Given the description of an element on the screen output the (x, y) to click on. 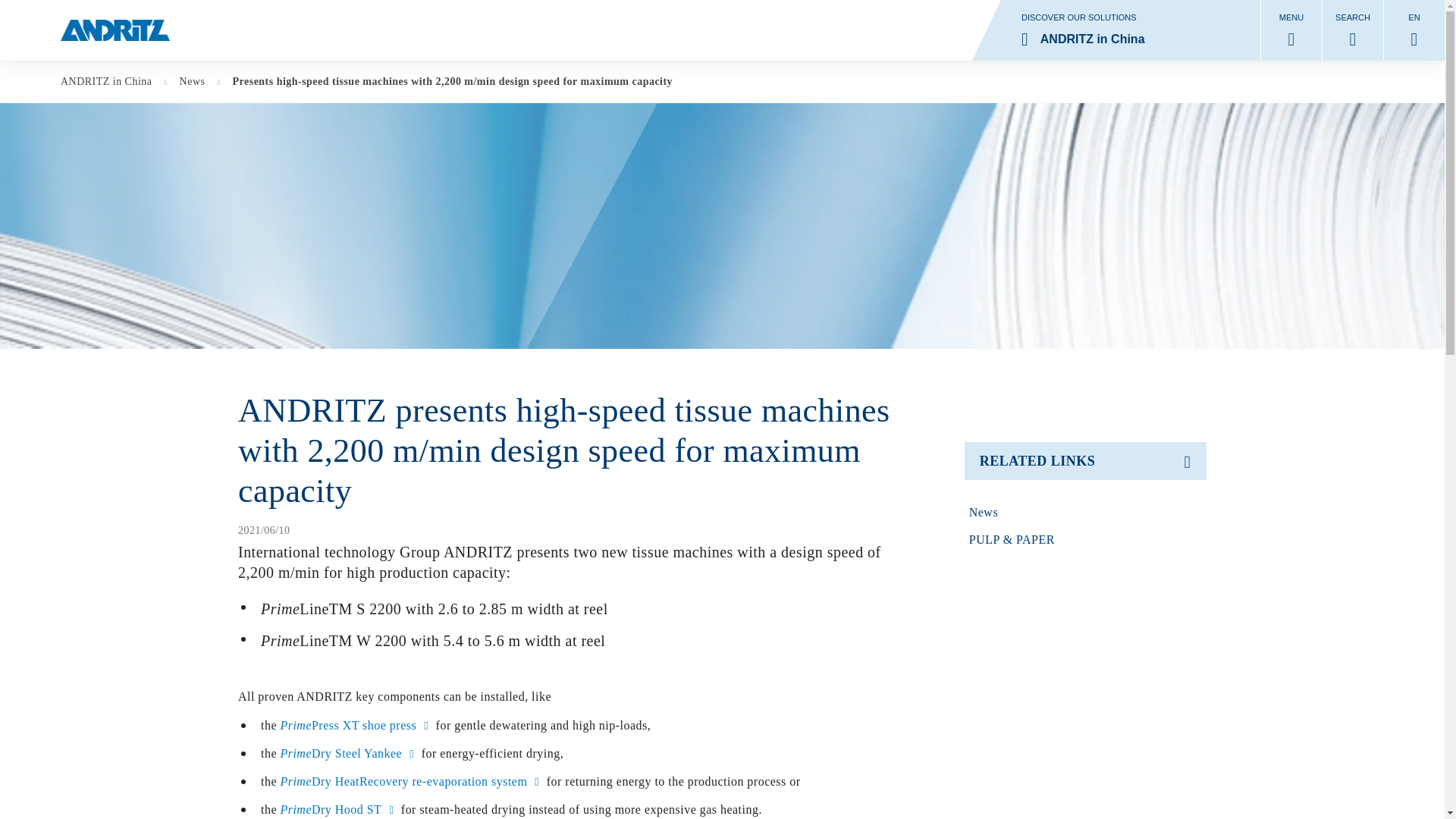
ANDRITZ in China (114, 81)
SEARCH (1352, 30)
PrimePress XT shoe press (355, 725)
News (1085, 512)
ANDRITZ in China (114, 81)
News (200, 81)
PrimeDry Steel Yankee (348, 753)
News (200, 81)
MENU (1291, 30)
PrimeDry Hood ST (338, 809)
PrimeDry HeatRecovery re-evaporation system (411, 780)
News (1116, 30)
